Given the description of an element on the screen output the (x, y) to click on. 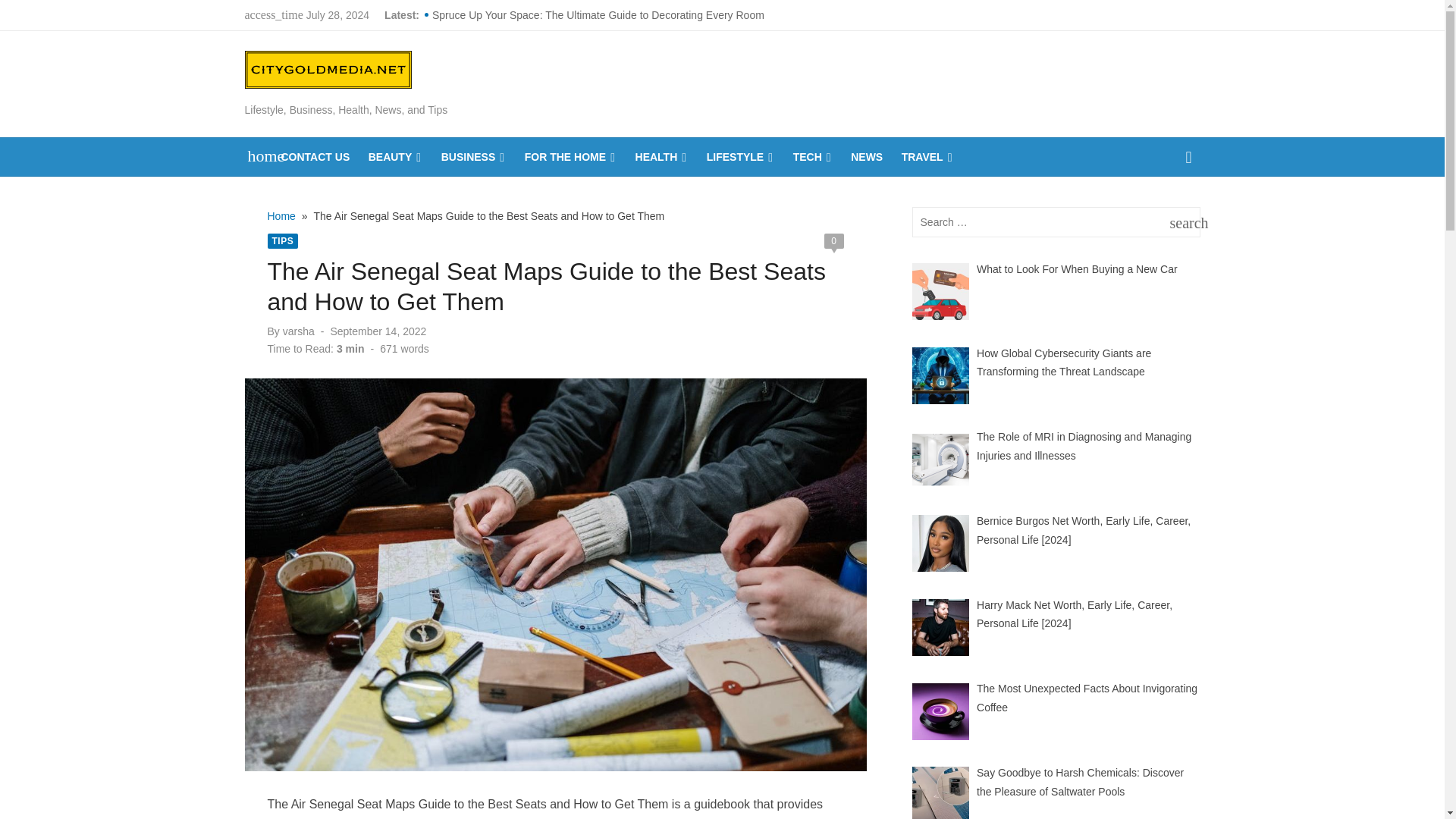
BUSINESS (473, 157)
FOR THE HOME (570, 157)
CONTACT US (315, 157)
home (258, 155)
BEAUTY (395, 157)
HEALTH (661, 157)
